Given the description of an element on the screen output the (x, y) to click on. 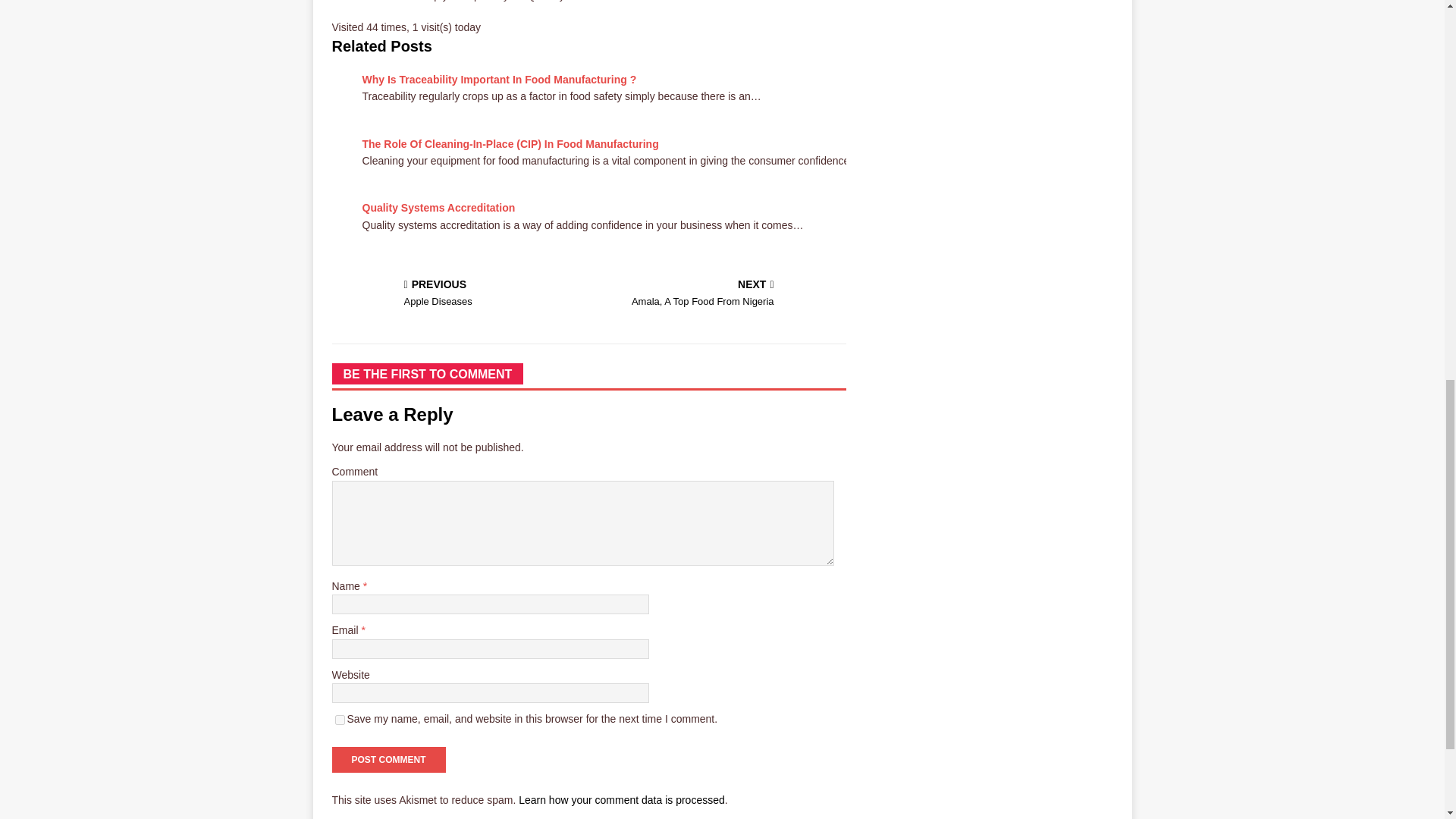
yes (339, 719)
Post Comment (388, 759)
